Given the description of an element on the screen output the (x, y) to click on. 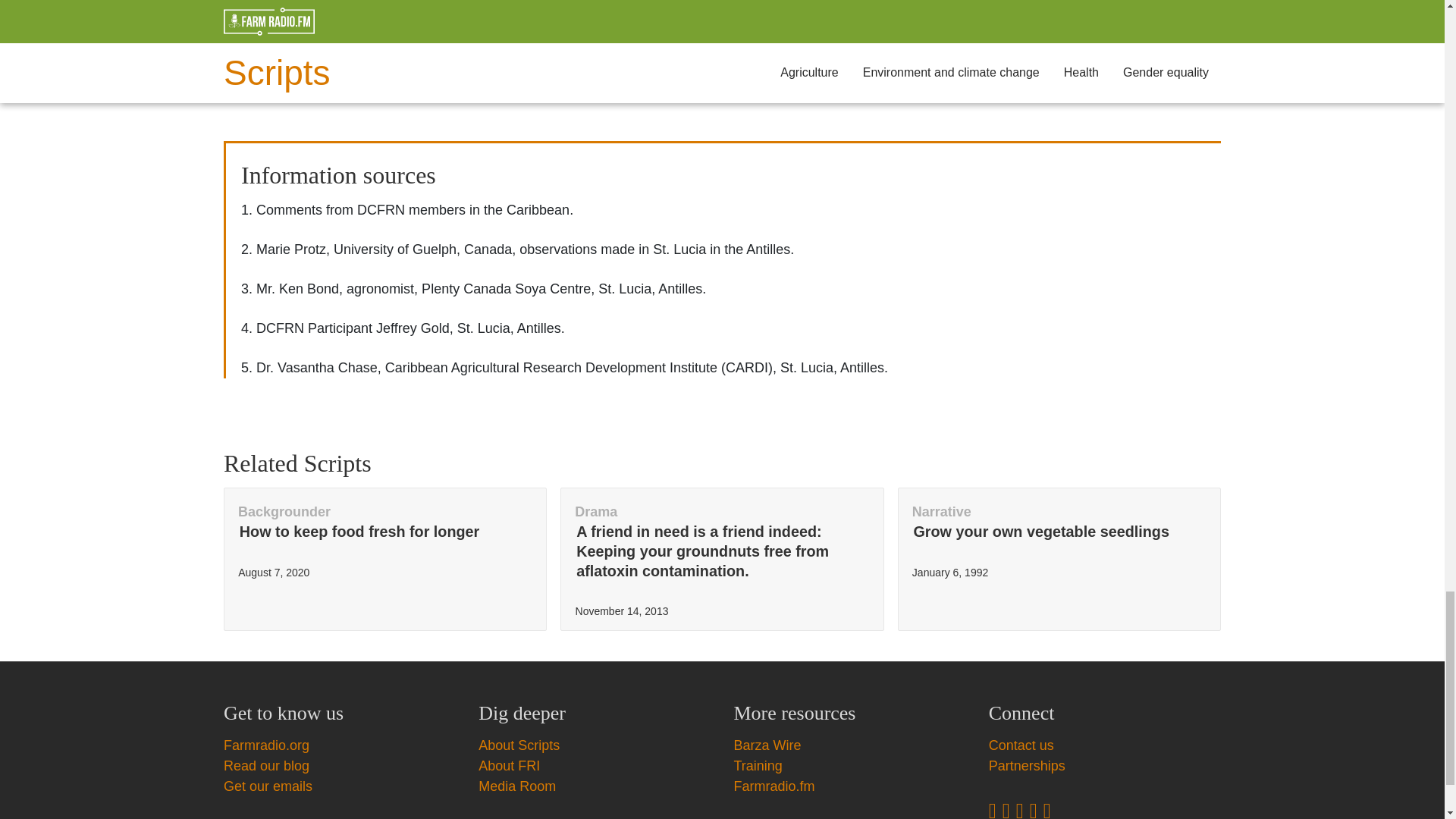
Training (758, 765)
Barza Wire (1059, 558)
About Scripts (767, 744)
Media Room (519, 744)
Farmradio.fm (517, 785)
Read our blog (774, 785)
About FRI (266, 765)
Get our emails (509, 765)
